Given the description of an element on the screen output the (x, y) to click on. 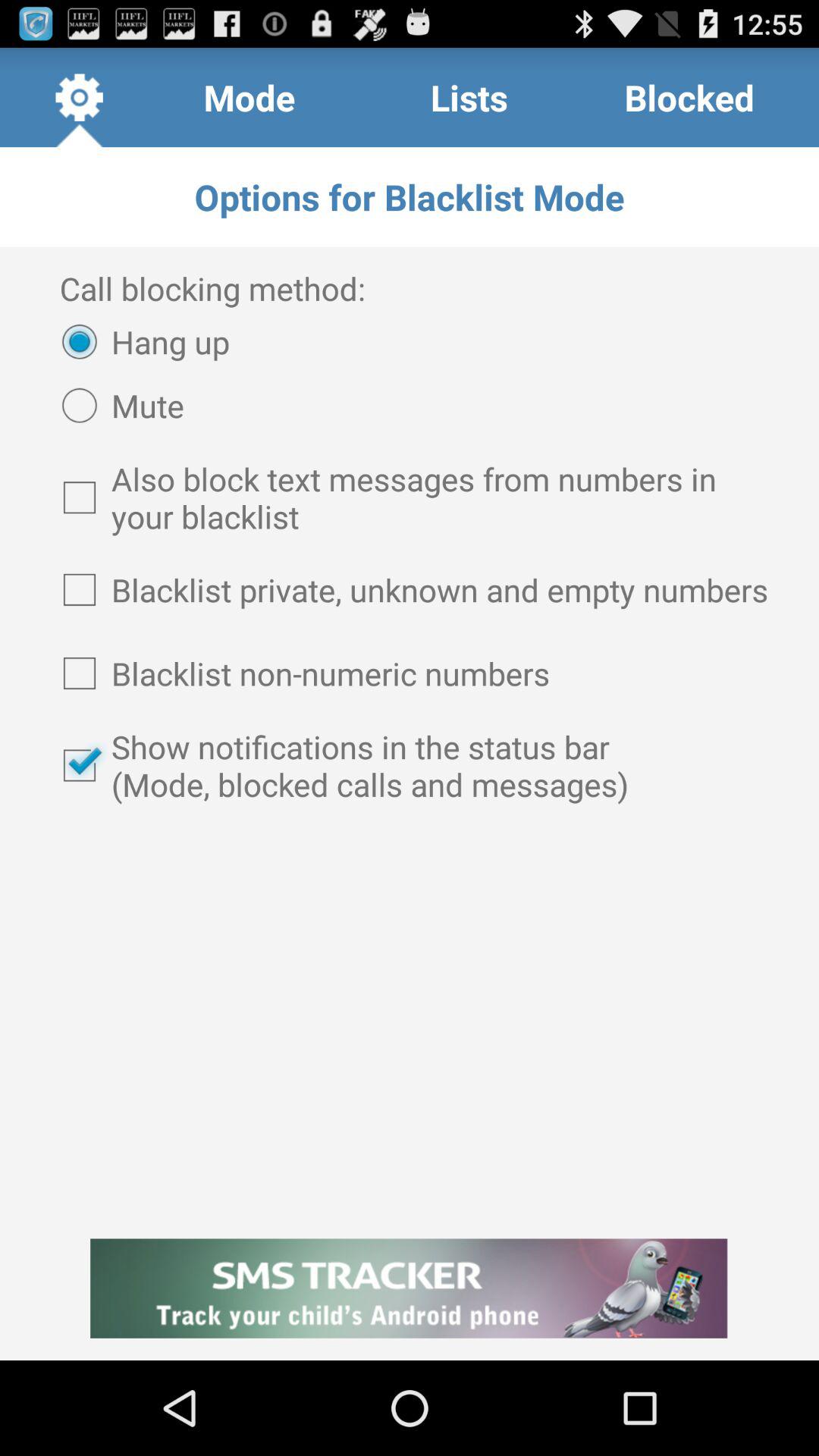
swipe until show notifications in item (409, 765)
